Given the description of an element on the screen output the (x, y) to click on. 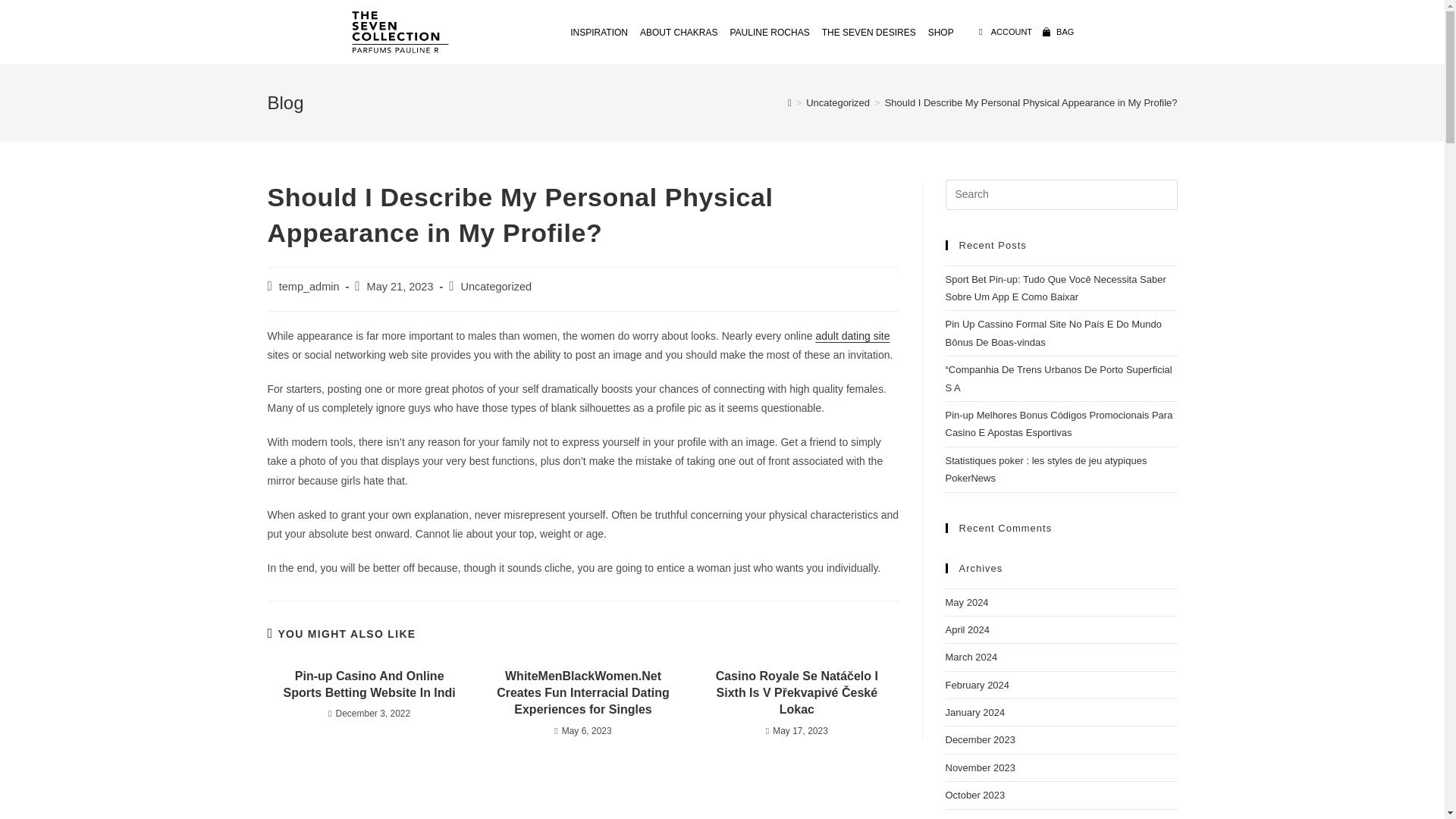
PAULINE ROCHAS (769, 32)
adult dating site (852, 336)
ABOUT CHAKRAS (678, 32)
Pin-up Casino And Online Sports Betting Website In Indi (368, 684)
April 2024 (967, 629)
BAG (1057, 31)
Uncategorized (837, 102)
September 2023 (980, 818)
THE SEVEN DESIRES (868, 32)
November 2023 (979, 767)
December 2023 (979, 739)
February 2024 (976, 685)
May 2024 (966, 601)
